Given the description of an element on the screen output the (x, y) to click on. 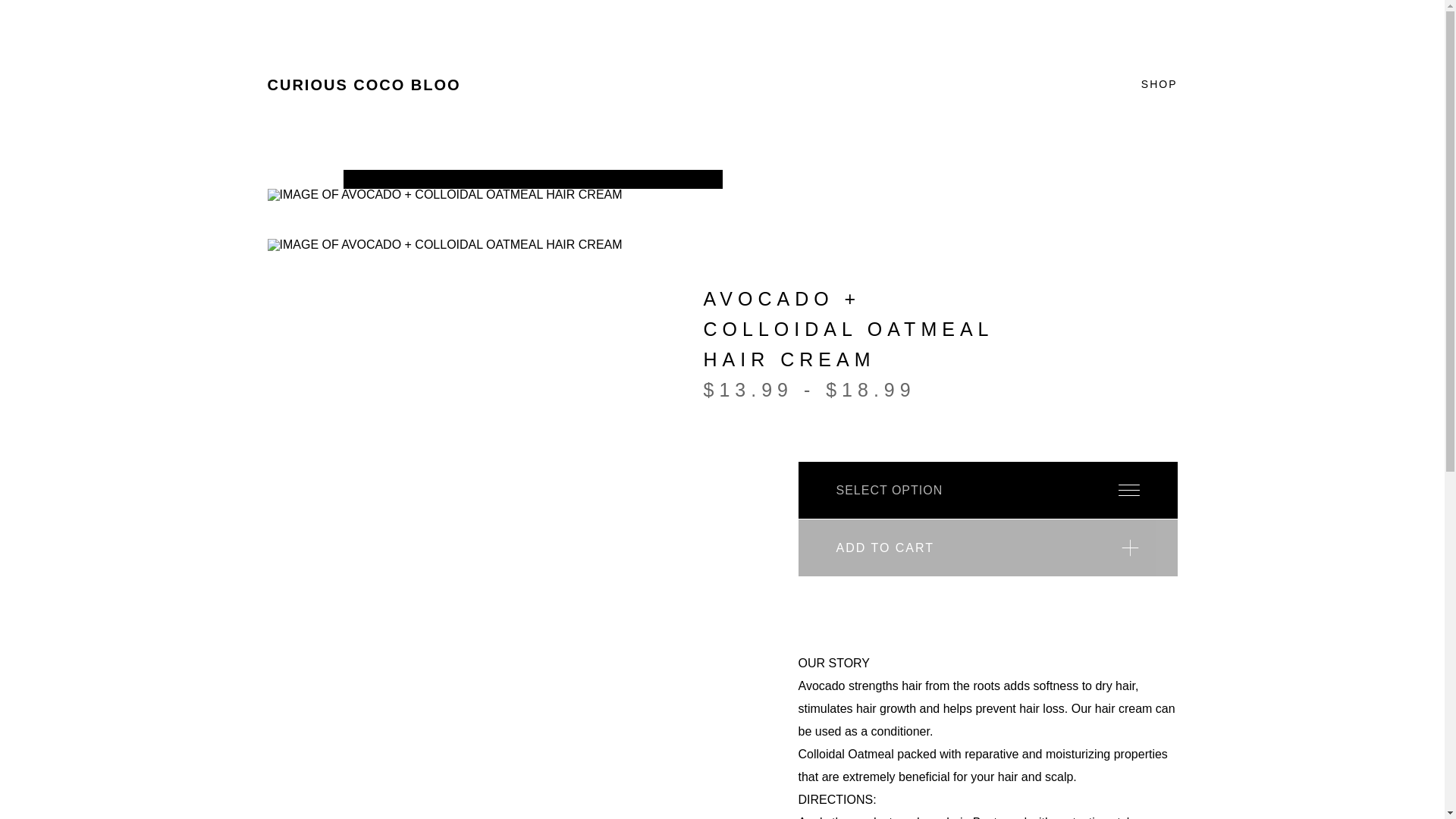
Add to Cart (986, 547)
 Curious Coco Bloo (363, 84)
ADD TO CART (986, 547)
CURIOUS COCO BLOO (363, 84)
SHOP (1159, 84)
